Given the description of an element on the screen output the (x, y) to click on. 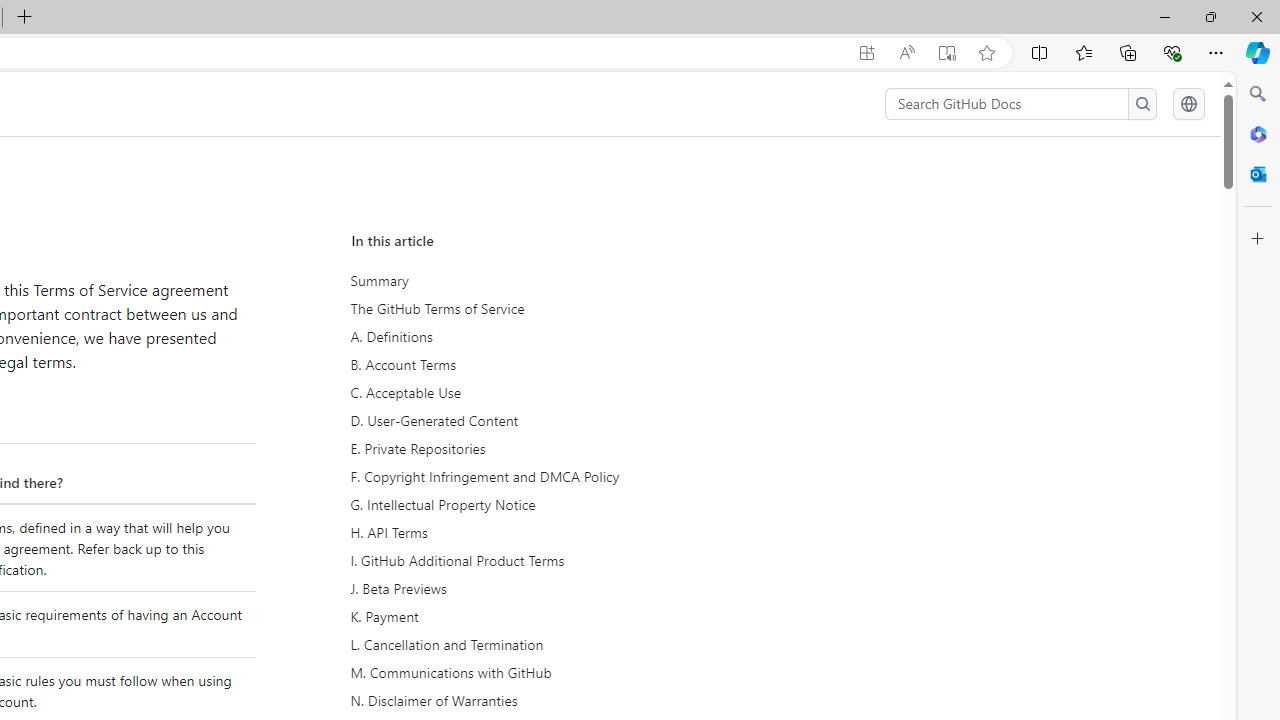
N. Disclaimer of Warranties (535, 700)
D. User-Generated Content (535, 420)
F. Copyright Infringement and DMCA Policy (535, 476)
L. Cancellation and Termination (538, 644)
B. Account Terms (538, 364)
H. API Terms (538, 533)
Summary (538, 281)
